Given the description of an element on the screen output the (x, y) to click on. 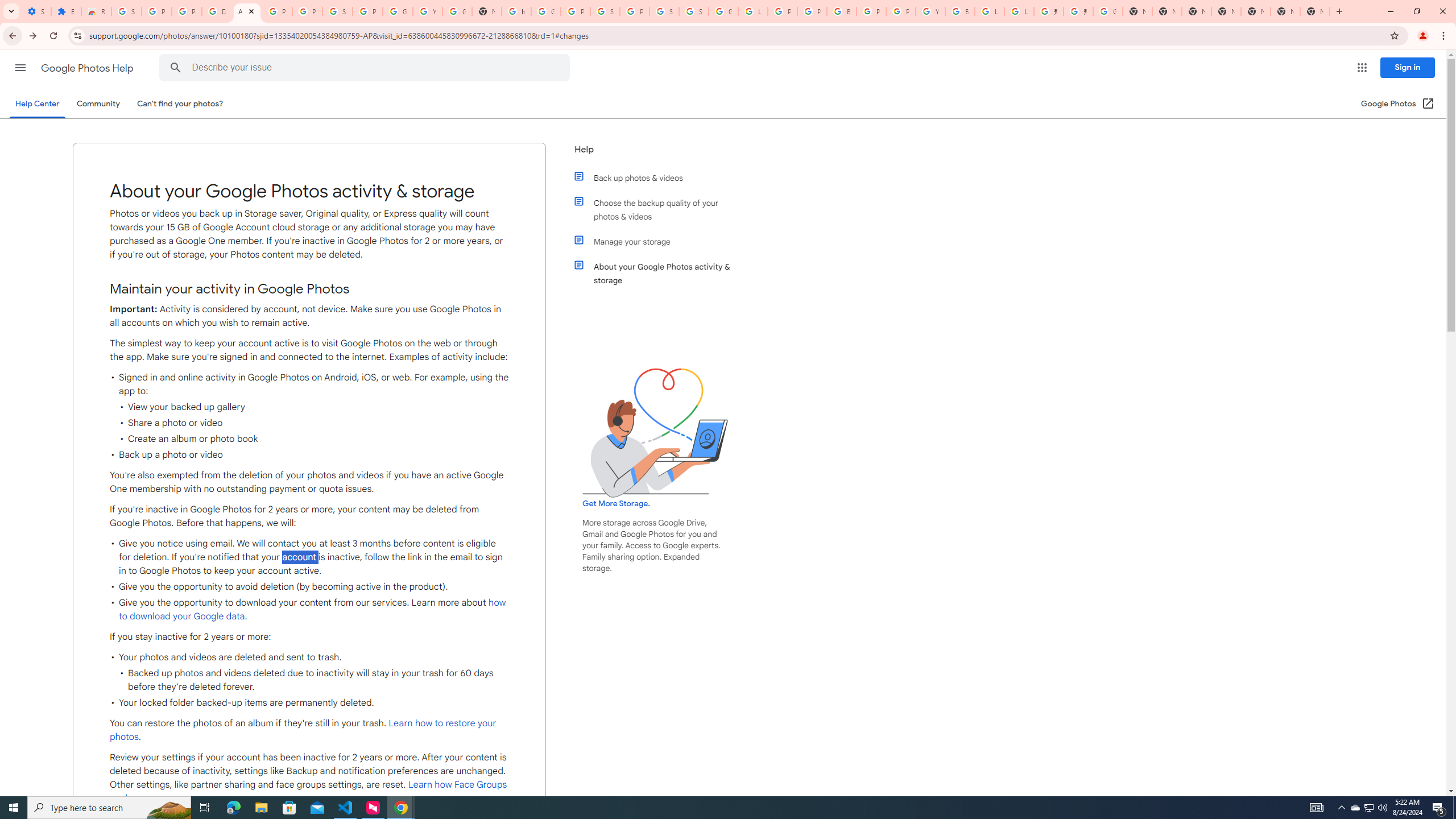
Search Help Center (176, 67)
New Tab (1314, 11)
Get More Storage. (615, 503)
Choose the backup quality of your photos & videos (661, 209)
Privacy Help Center - Policies Help (782, 11)
Back up photos & videos (661, 177)
